Given the description of an element on the screen output the (x, y) to click on. 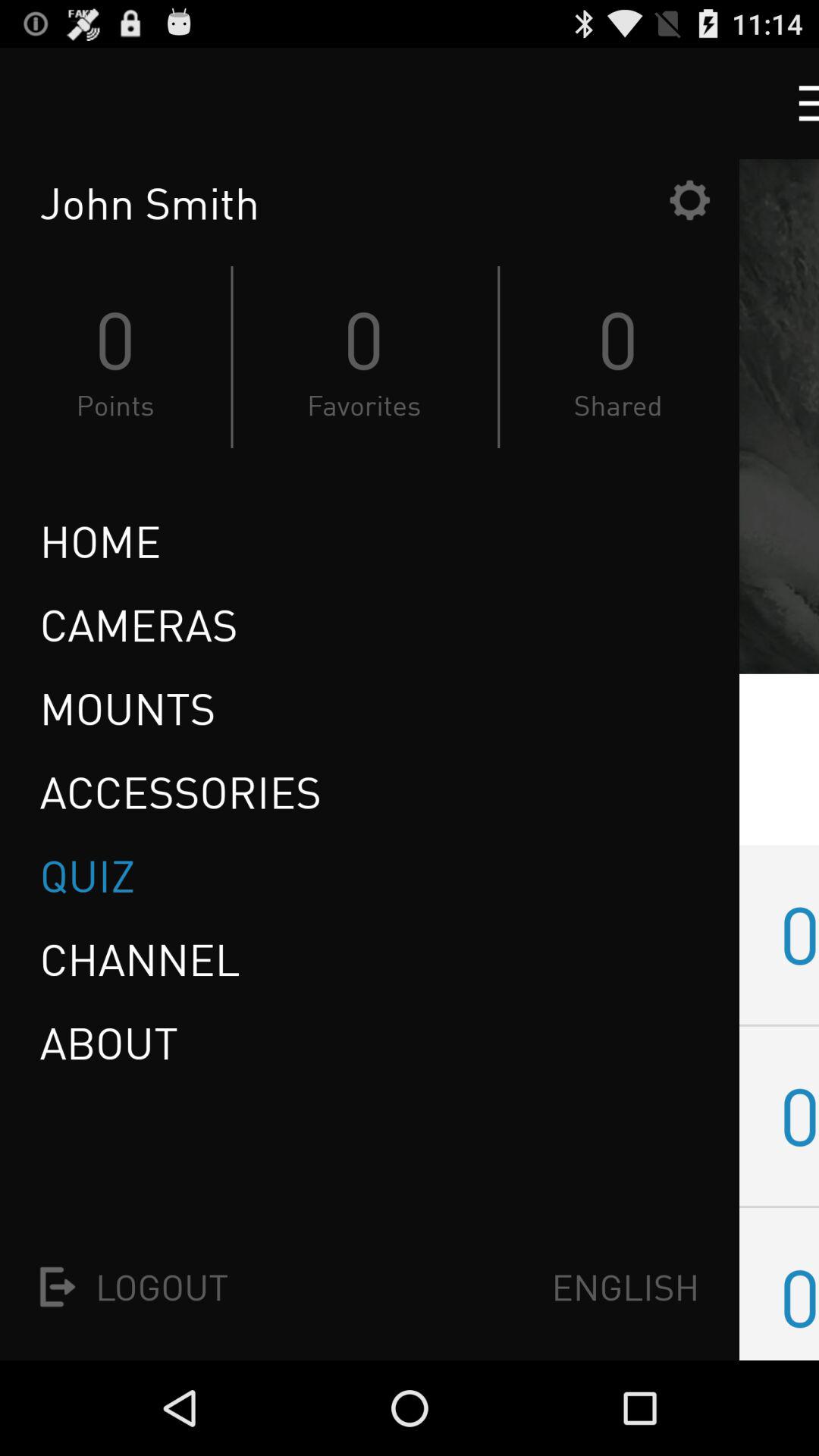
turn on the icon to the right of john smith icon (689, 199)
